Given the description of an element on the screen output the (x, y) to click on. 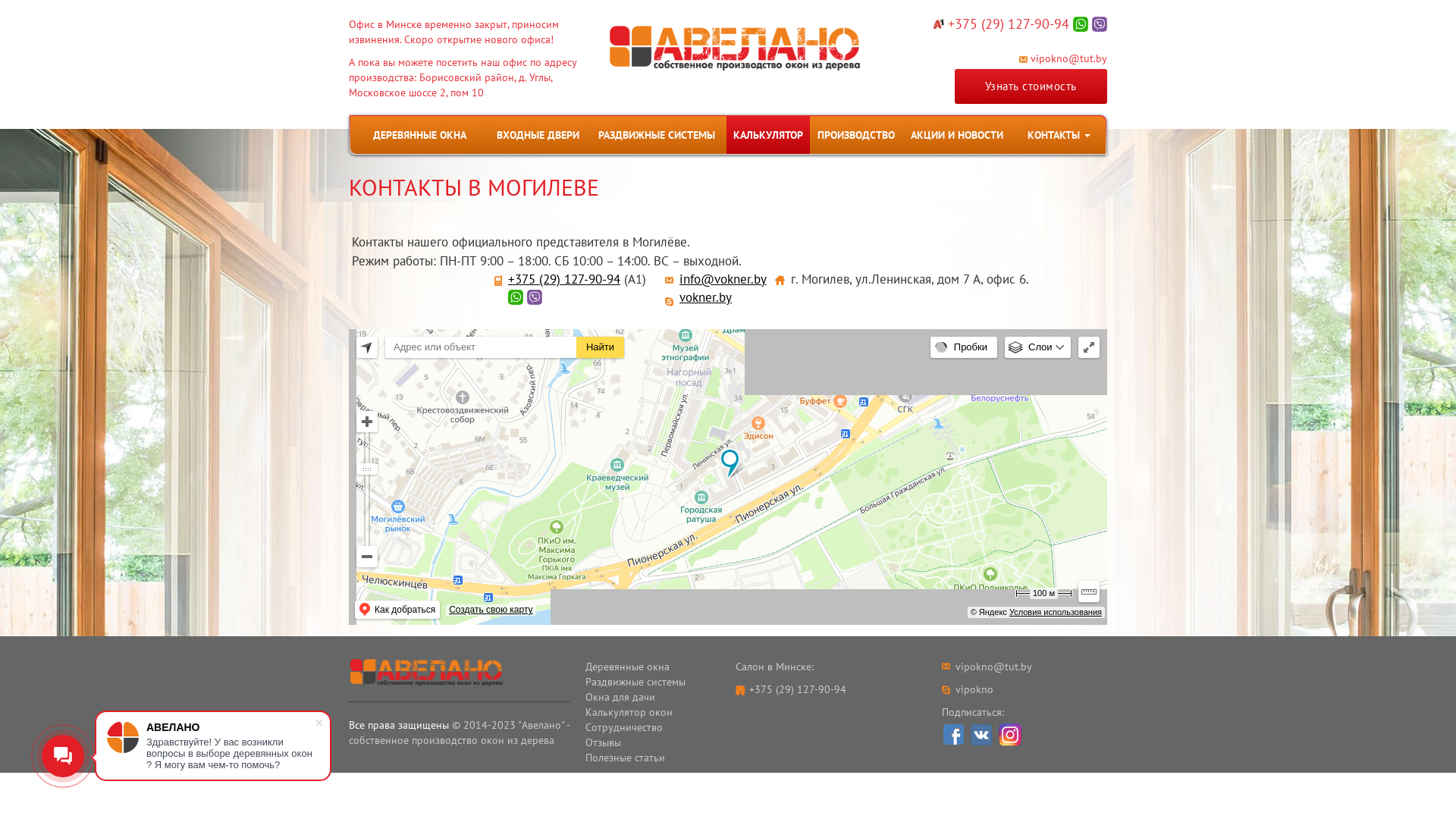
Facebook Element type: hover (953, 734)
vokner.by Element type: text (705, 296)
info@vokner.by Element type: text (722, 278)
+375 (29) 127-90-94 Element type: text (1008, 23)
+375 (29) 127-90-94 Element type: text (797, 689)
vipokno@tut.by Element type: text (1063, 58)
instagram Element type: hover (1009, 734)
+375 (29) 127-90-94 Element type: text (564, 278)
vipokno Element type: text (974, 689)
vipokno@tut.by Element type: text (993, 666)
